Given the description of an element on the screen output the (x, y) to click on. 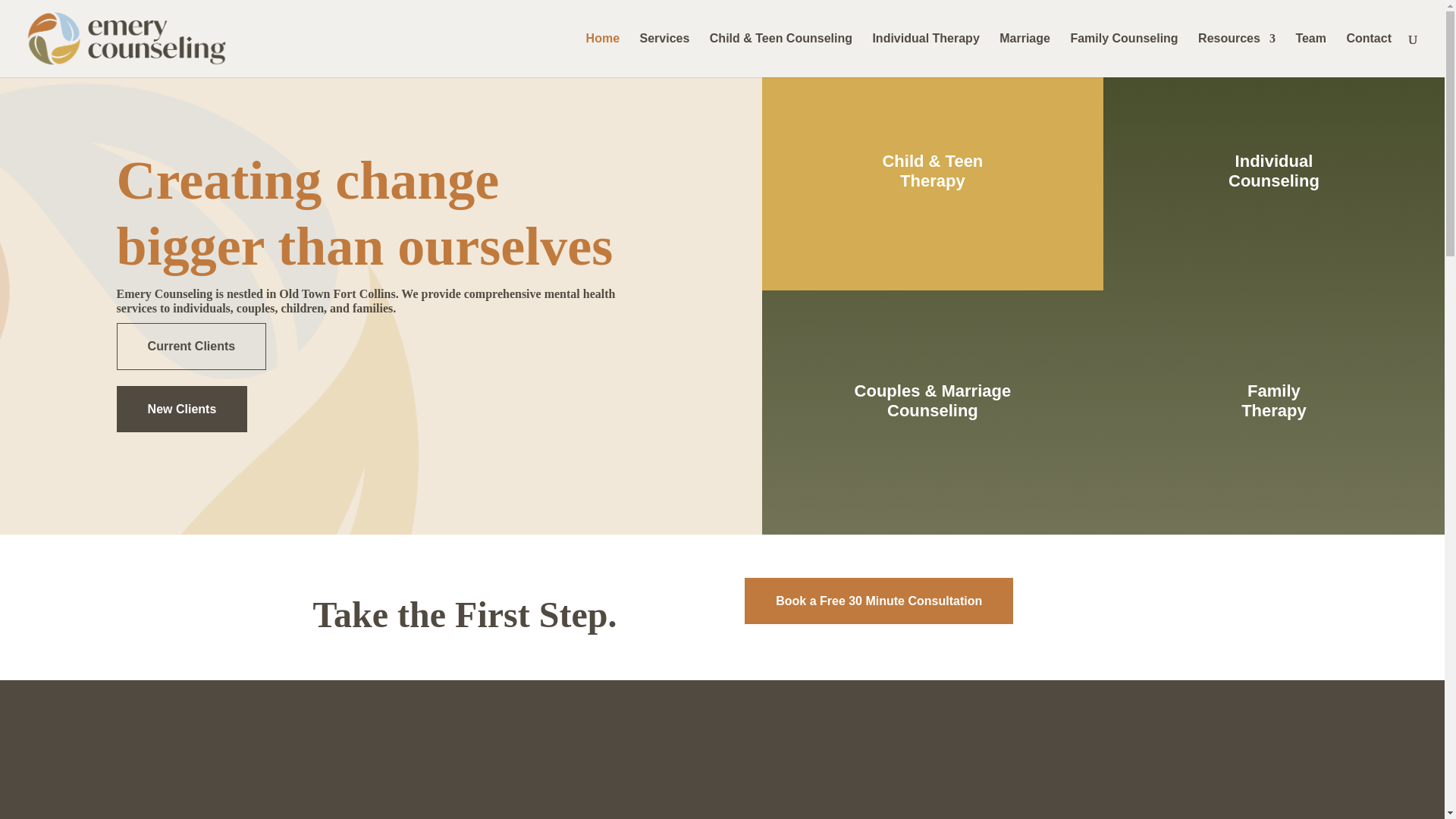
New Clients (181, 408)
Current Clients (191, 345)
Services (665, 54)
Resources (1236, 54)
Book a Free 30 Minute Consultation (878, 601)
Contact (1368, 54)
Individual Therapy (925, 54)
Marriage (1023, 54)
Family Counseling (1123, 54)
